Given the description of an element on the screen output the (x, y) to click on. 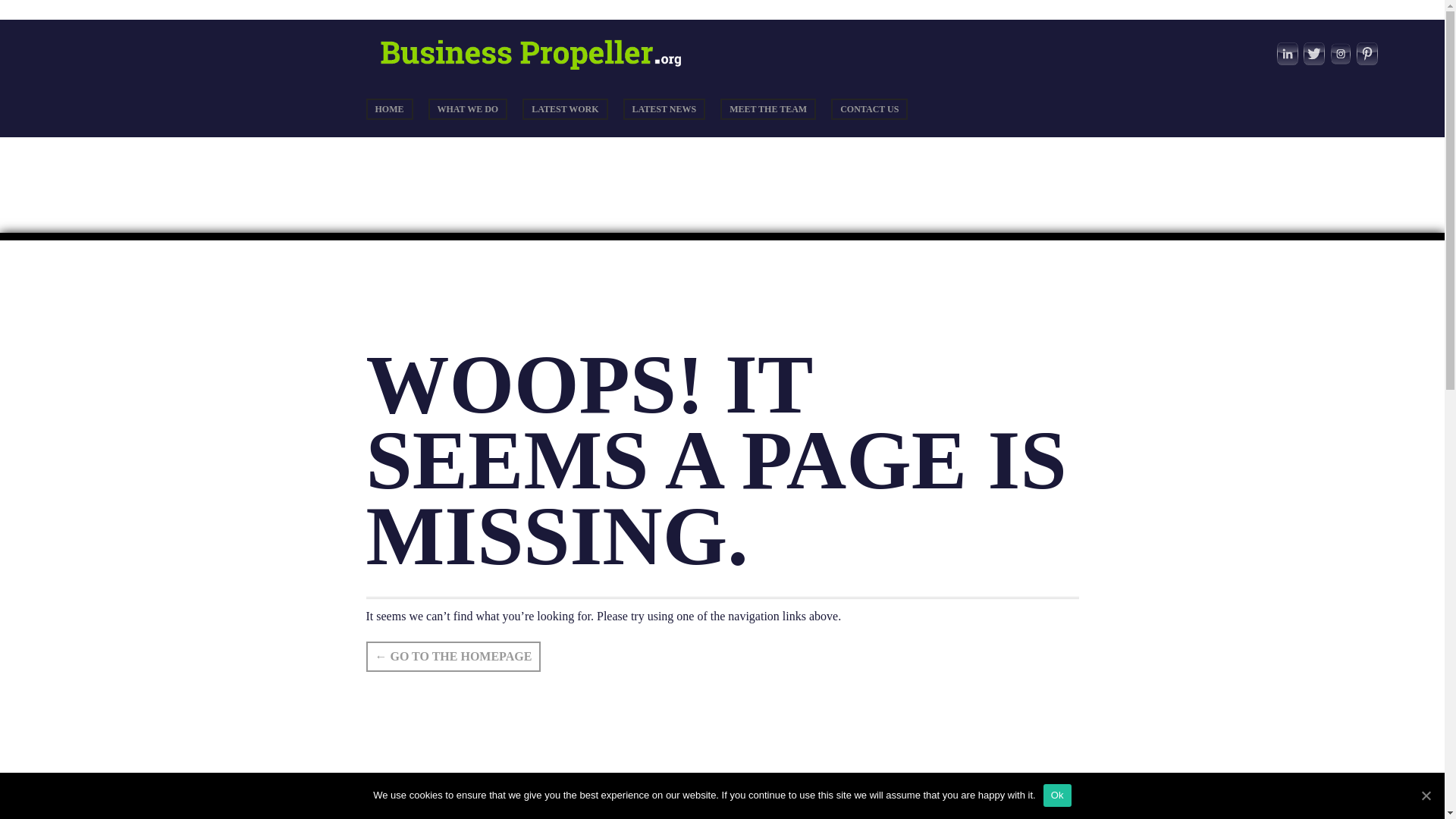
Business Propeller.org (539, 69)
Ok (1057, 794)
LATEST NEWS (664, 108)
CONTACT US (869, 108)
WHAT WE DO (467, 108)
MEET THE TEAM (767, 108)
LATEST WORK (564, 108)
HOME (388, 108)
